Given the description of an element on the screen output the (x, y) to click on. 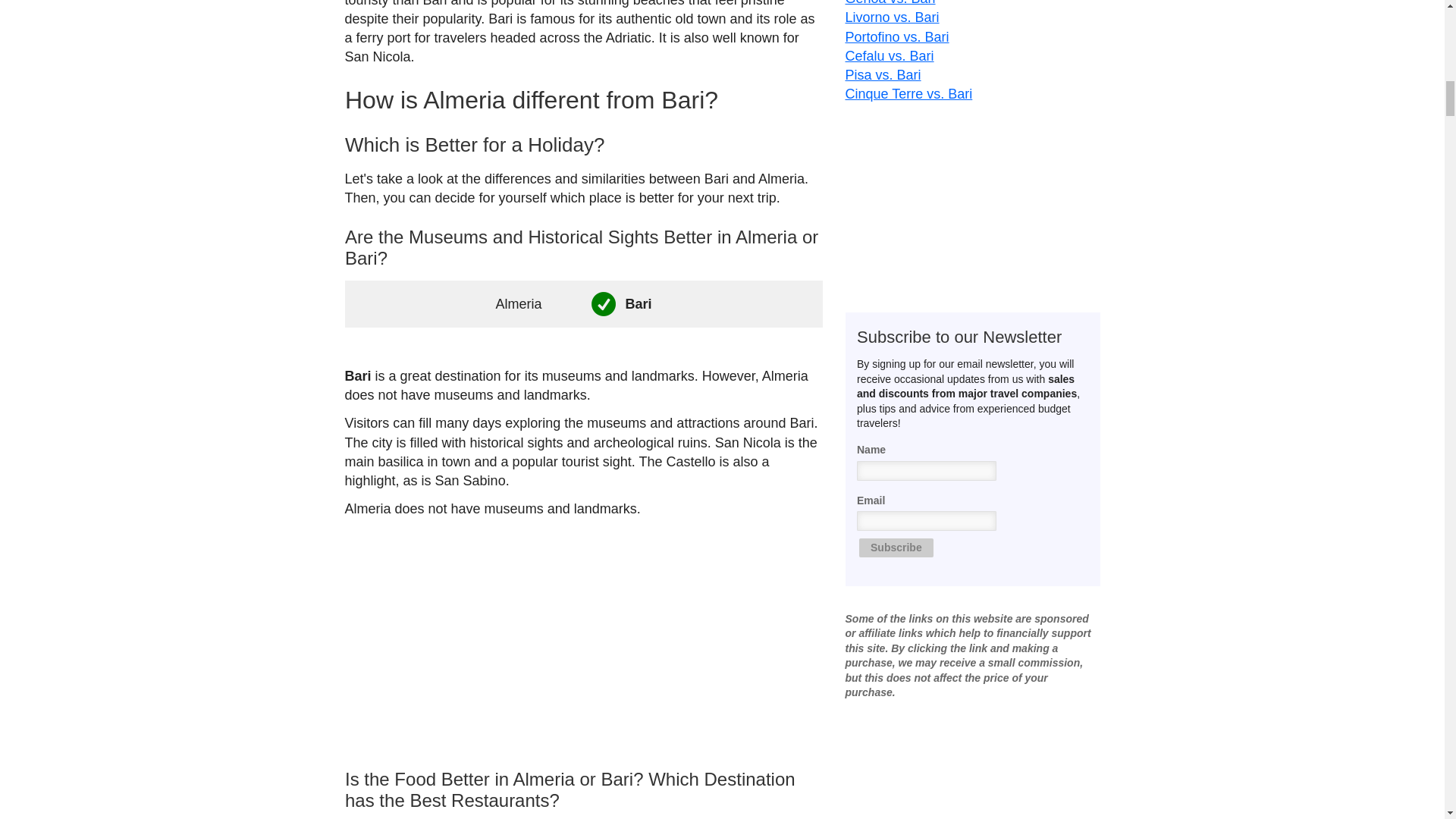
Subscribe (896, 527)
